Given the description of an element on the screen output the (x, y) to click on. 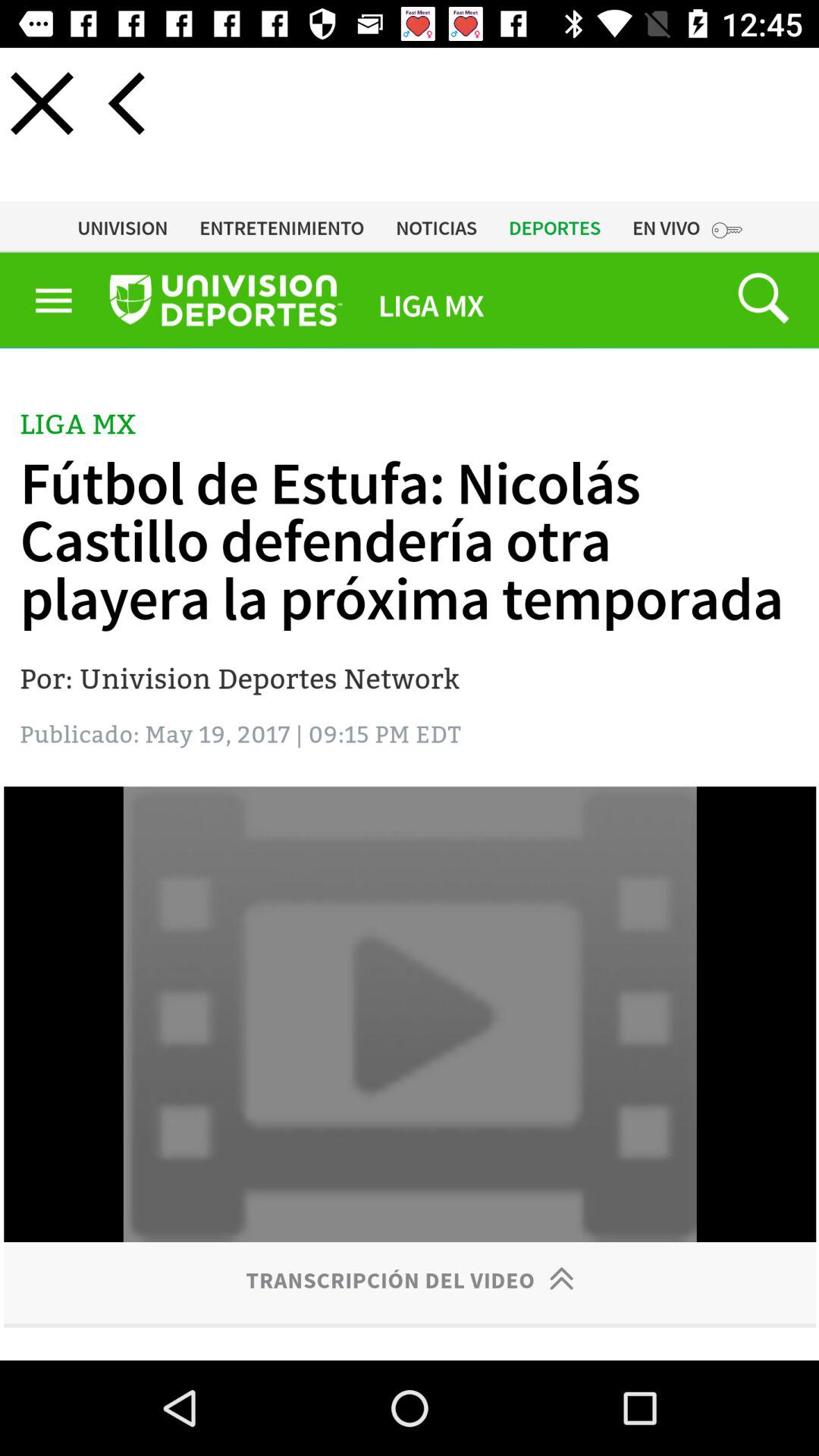
go to close (41, 103)
